Given the description of an element on the screen output the (x, y) to click on. 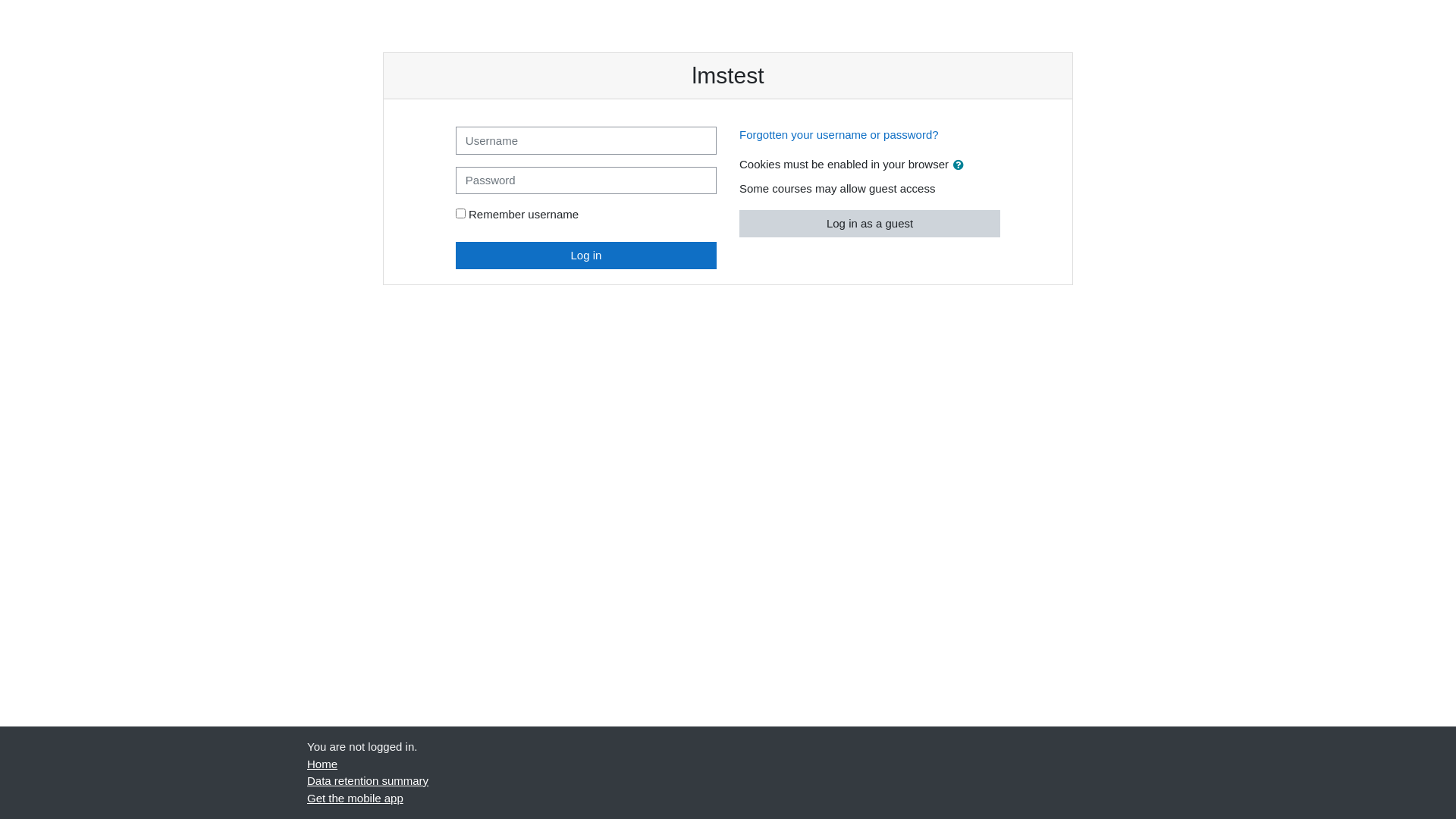
Home Element type: text (322, 762)
Log in Element type: text (585, 255)
Help with Cookies must be enabled in your browser Element type: hover (958, 163)
Log in as a guest Element type: text (869, 223)
Get the mobile app Element type: text (355, 797)
Data retention summary Element type: text (367, 780)
Forgotten your username or password? Element type: text (838, 134)
